Given the description of an element on the screen output the (x, y) to click on. 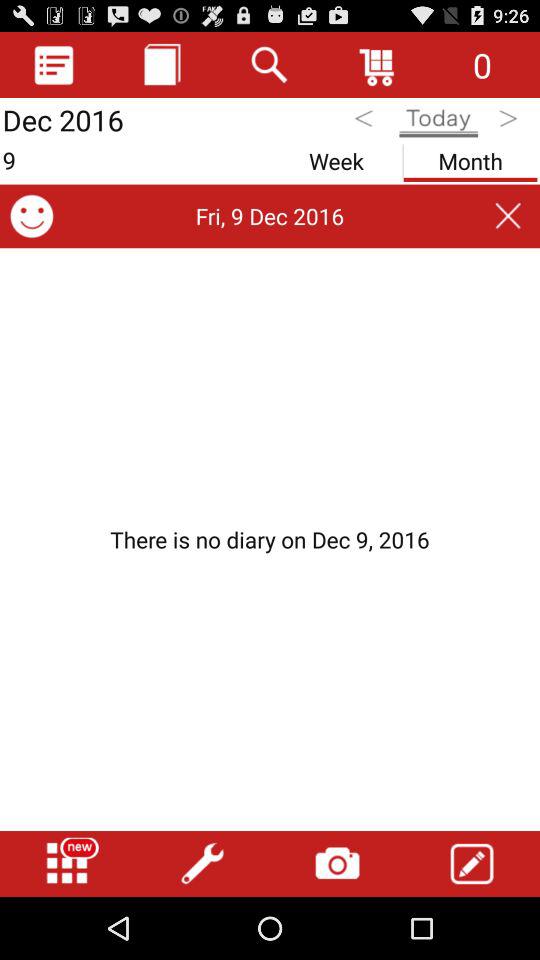
go to tomorrow (510, 121)
